Given the description of an element on the screen output the (x, y) to click on. 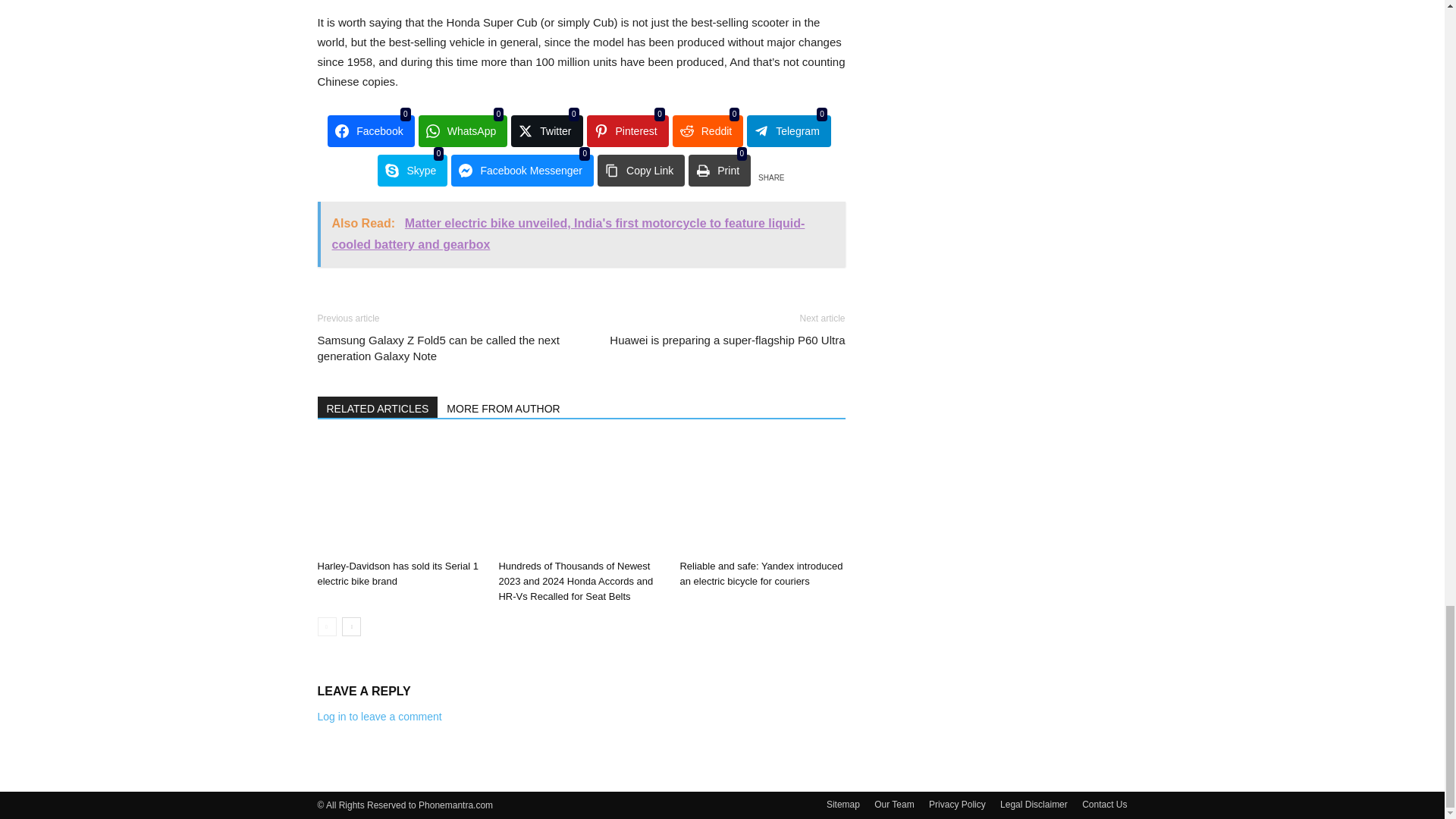
Share on Print (719, 170)
Reddit (707, 131)
Share on WhatsApp (463, 131)
Share on Facebook Messenger (522, 170)
Telegram (788, 131)
Share on Twitter (546, 131)
Share on Facebook (370, 131)
Pinterest (627, 131)
Twitter (546, 131)
Skype (411, 170)
WhatsApp (463, 131)
Share on Copy Link (640, 170)
Share on Skype (411, 170)
Share on Pinterest (627, 131)
bottomFacebookLike (430, 298)
